Given the description of an element on the screen output the (x, y) to click on. 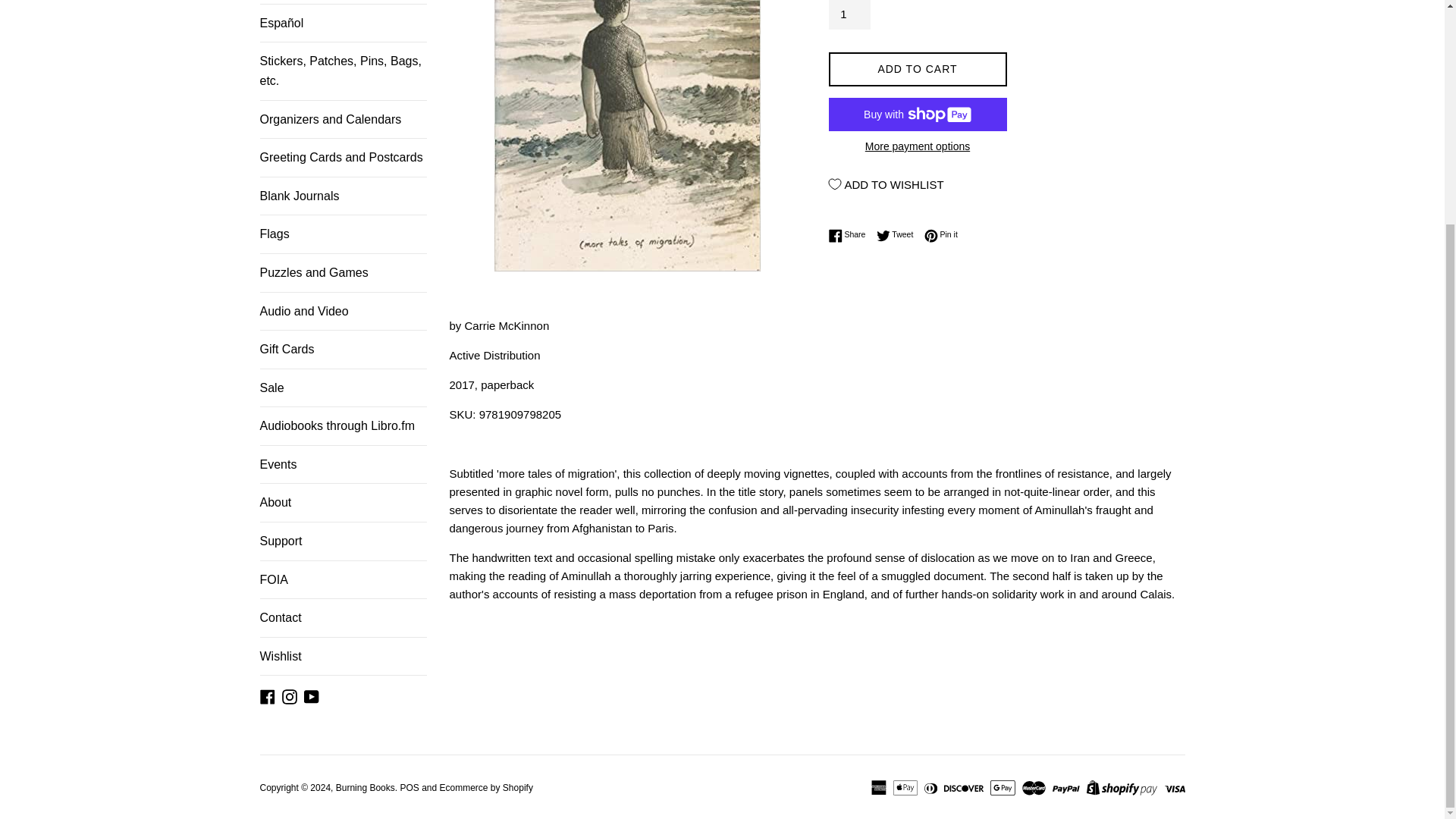
1 (848, 14)
Burning Books on YouTube (311, 695)
Pin on Pinterest (941, 234)
Tweet on Twitter (898, 234)
Burning Books on Instagram (289, 695)
Burning Books on Facebook (267, 695)
Share on Facebook (850, 234)
Add to Wishlist (885, 184)
Booklets (342, 2)
